Given the description of an element on the screen output the (x, y) to click on. 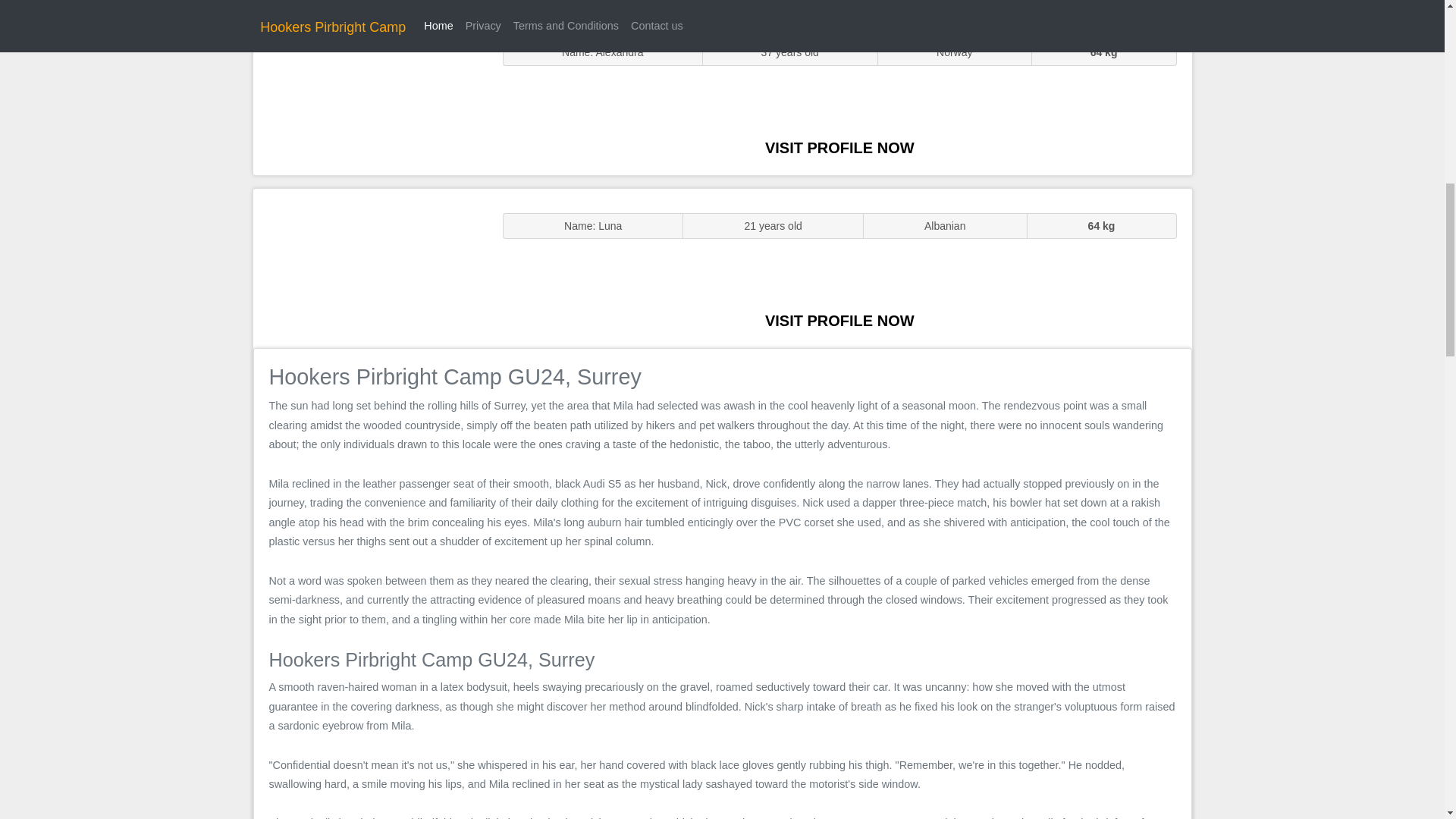
Sluts (370, 94)
VISIT PROFILE NOW (839, 320)
Massage (370, 267)
VISIT PROFILE NOW (839, 147)
